Given the description of an element on the screen output the (x, y) to click on. 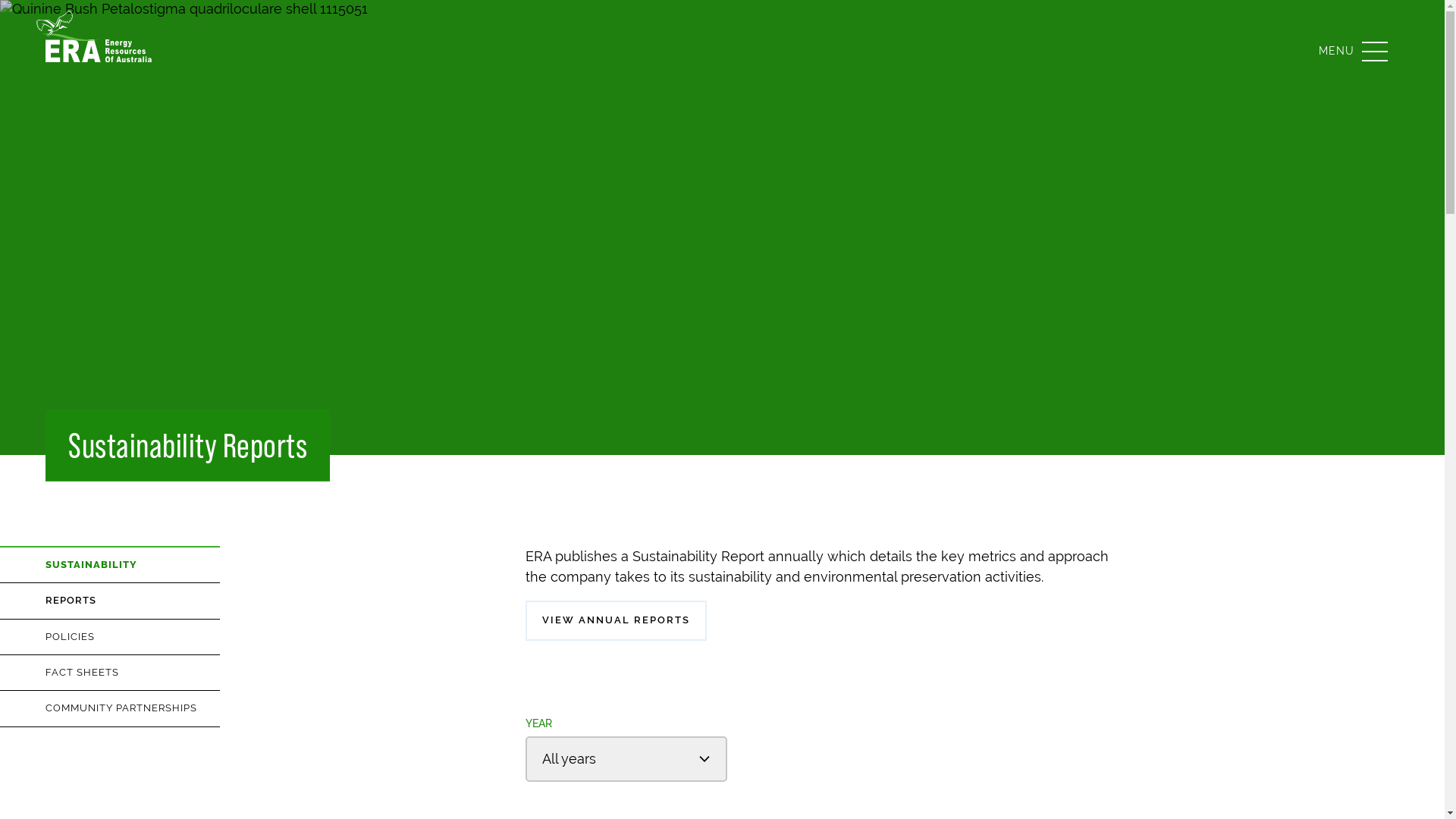
REPORTS Element type: text (132, 600)
VIEW ANNUAL REPORTS Element type: text (615, 620)
SUSTAINABILITY Element type: text (132, 564)
OPEN
MENU Element type: text (1353, 50)
FACT SHEETS Element type: text (132, 672)
POLICIES Element type: text (132, 636)
COMMUNITY PARTNERSHIPS Element type: text (132, 707)
